Given the description of an element on the screen output the (x, y) to click on. 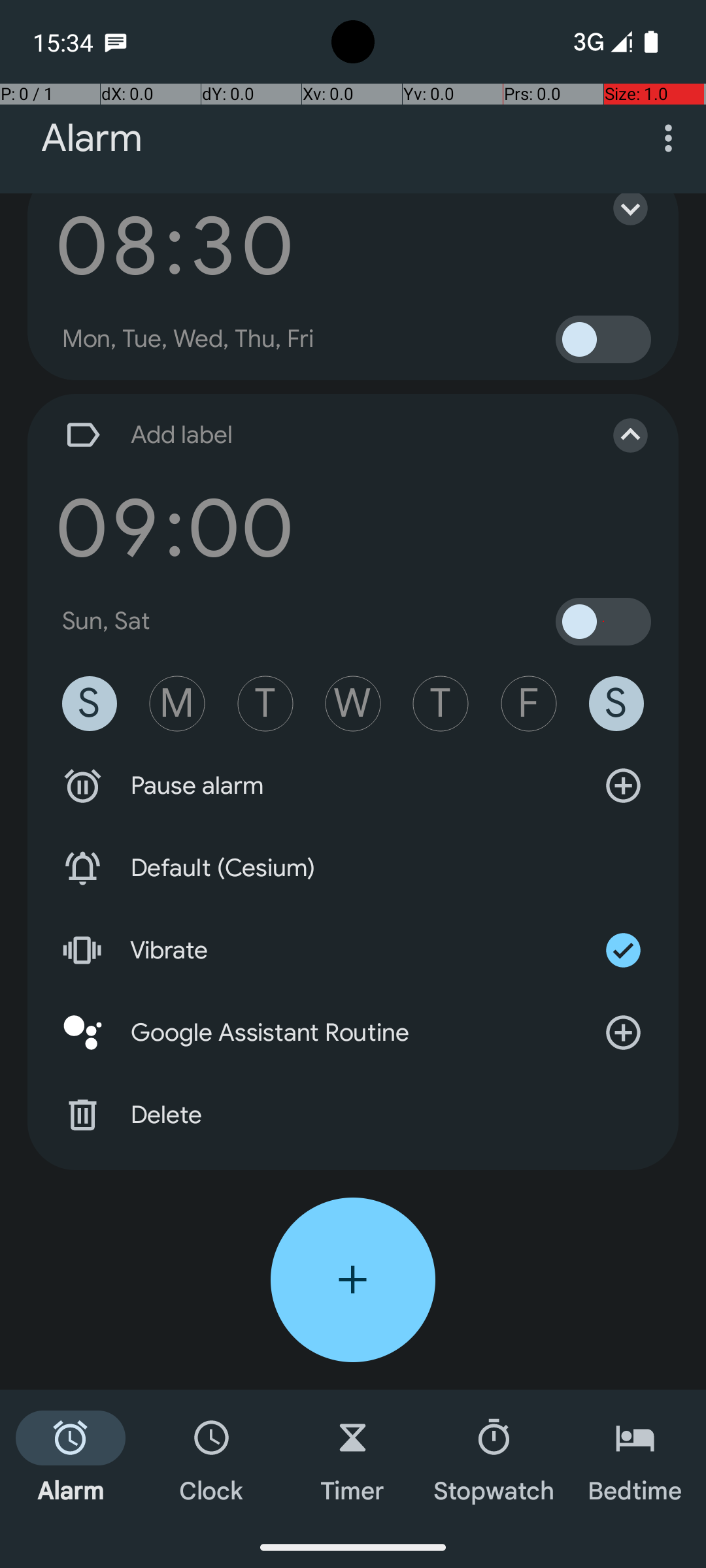
Google Assistant Routine Element type: android.widget.TextView (352, 1032)
